Given the description of an element on the screen output the (x, y) to click on. 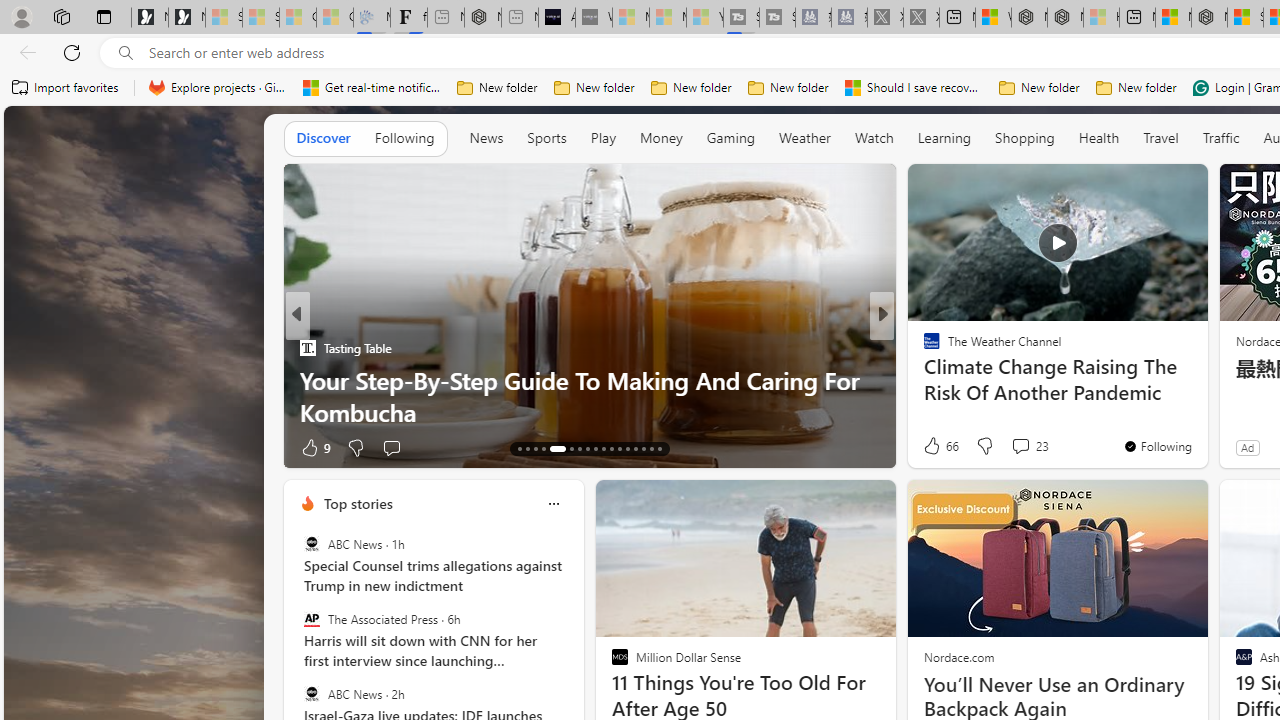
View comments 190 Comment (1019, 447)
Live Science (923, 347)
113 Like (936, 447)
AutomationID: tab-18 (567, 448)
Microsoft Start Sports - Sleeping (630, 17)
AutomationID: tab-17 (552, 448)
AutomationID: tab-19 (578, 448)
